Given the description of an element on the screen output the (x, y) to click on. 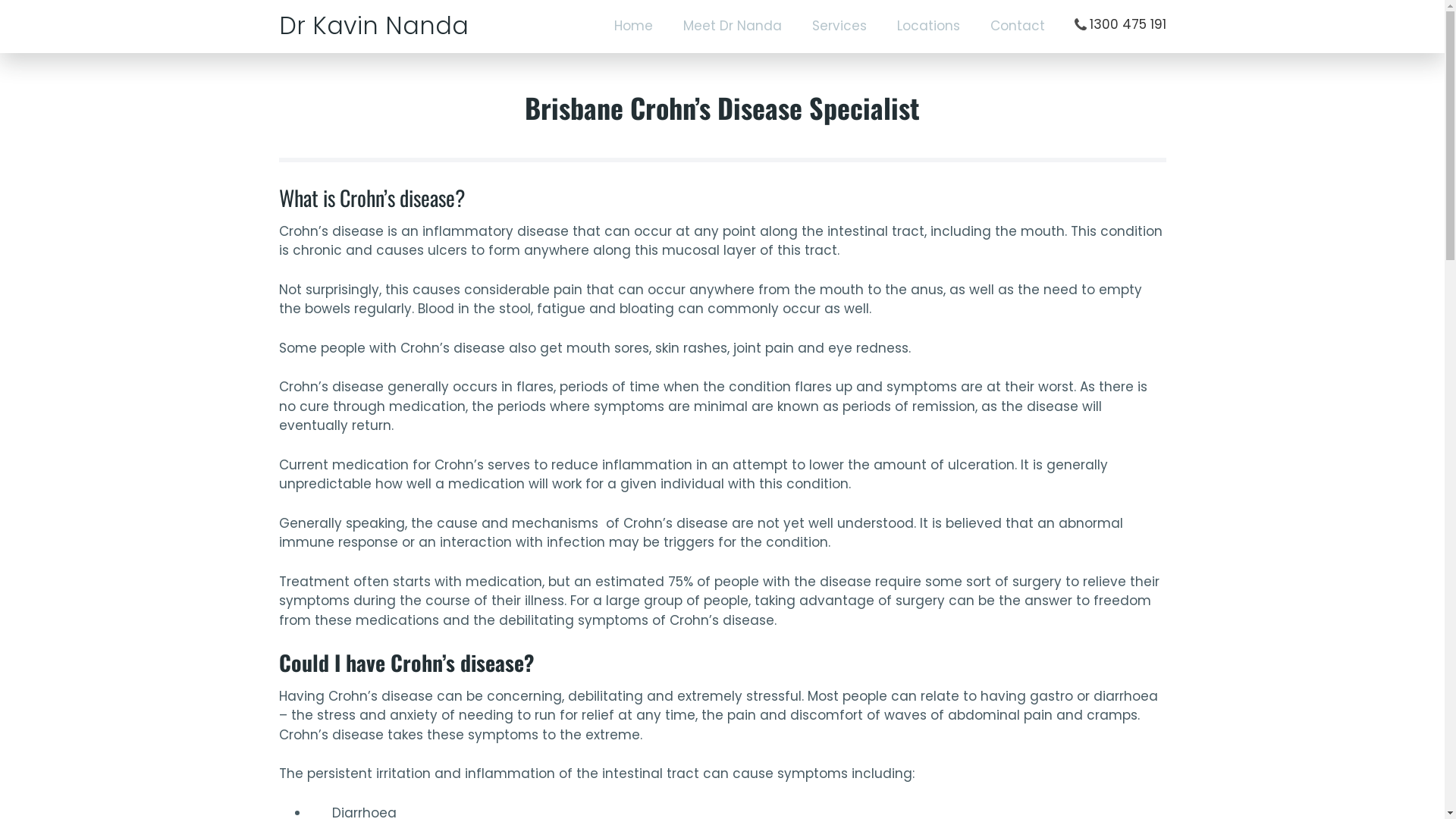
Services Element type: text (838, 26)
Meet Dr Nanda Element type: text (731, 26)
Dr Kavin Nanda Element type: text (373, 25)
Home Element type: text (633, 26)
Contact Element type: text (1017, 26)
Locations Element type: text (927, 26)
1300 475 191 Element type: text (1119, 24)
